Given the description of an element on the screen output the (x, y) to click on. 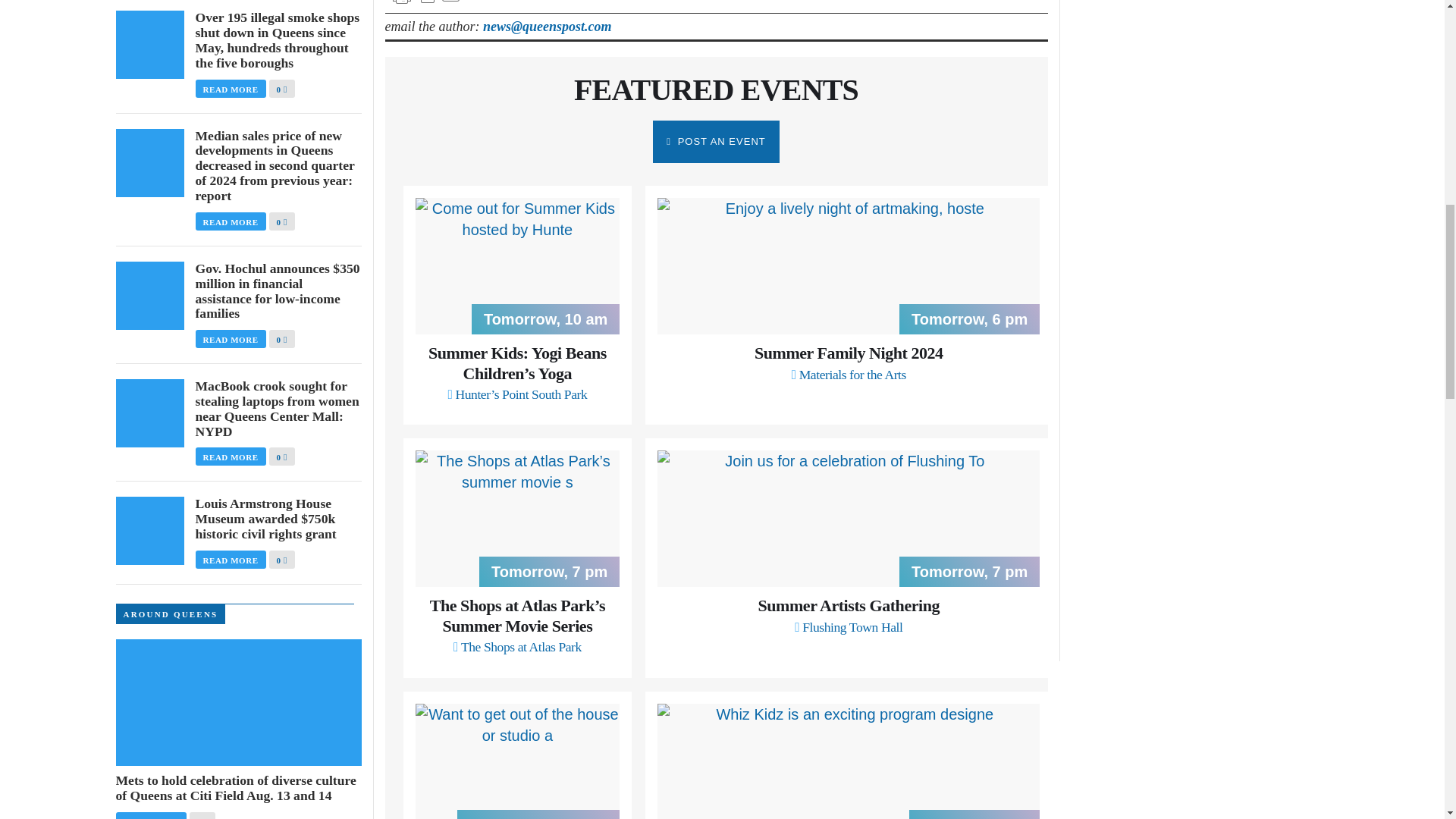
FEATURED EVENTS (716, 89)
POST AN EVENT (848, 362)
